Given the description of an element on the screen output the (x, y) to click on. 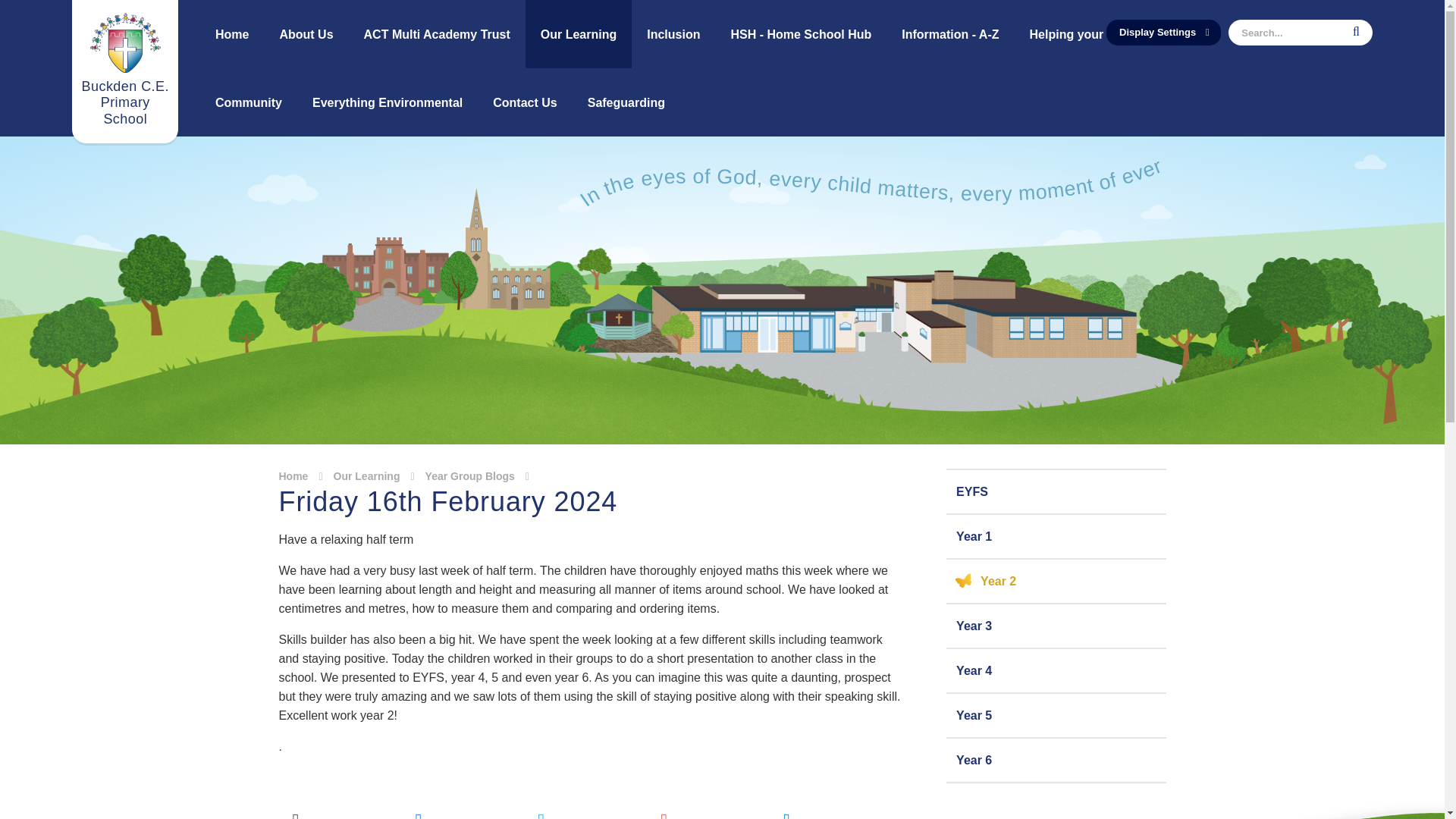
Search... (1300, 32)
About Us (305, 33)
Search... (1300, 32)
Home (231, 33)
